Given the description of an element on the screen output the (x, y) to click on. 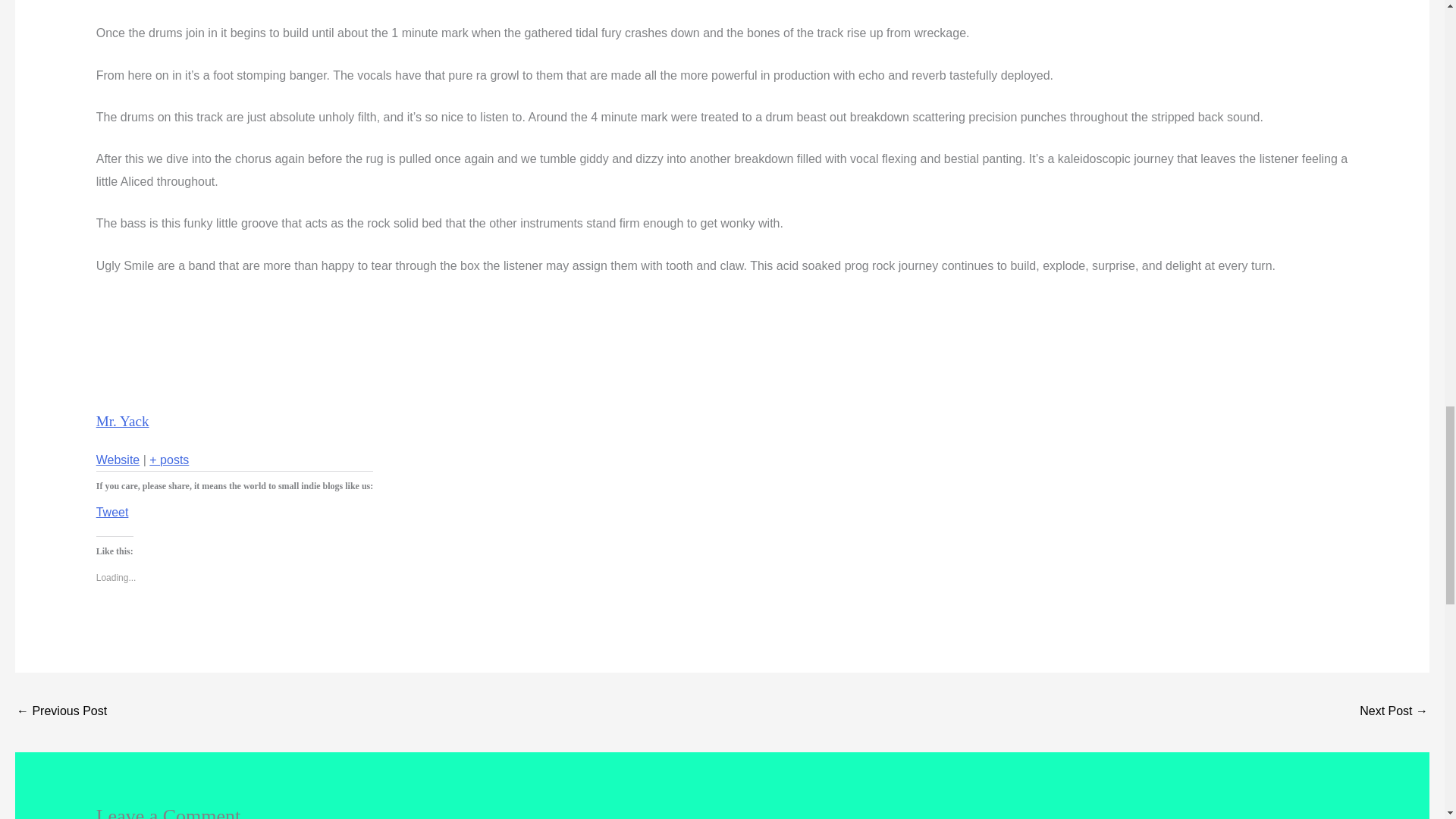
New Music - Andrew Chris 'Floatin'' (1393, 712)
Tweet (112, 508)
Mr. Yack (122, 421)
Website (117, 459)
New Music - Carl Fungus 'A Rose' (61, 712)
